Given the description of an element on the screen output the (x, y) to click on. 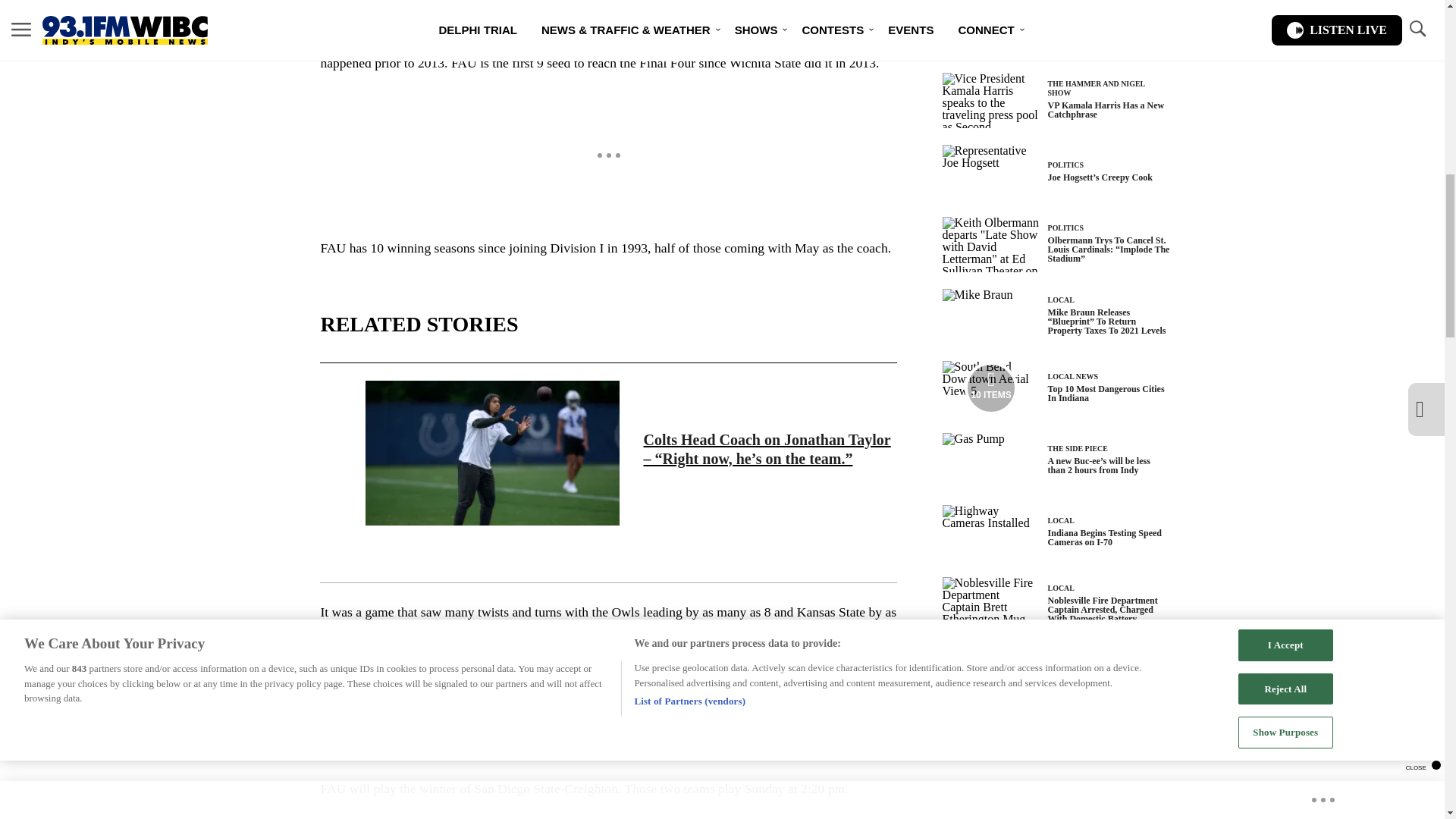
Media Playlist (990, 387)
